Given the description of an element on the screen output the (x, y) to click on. 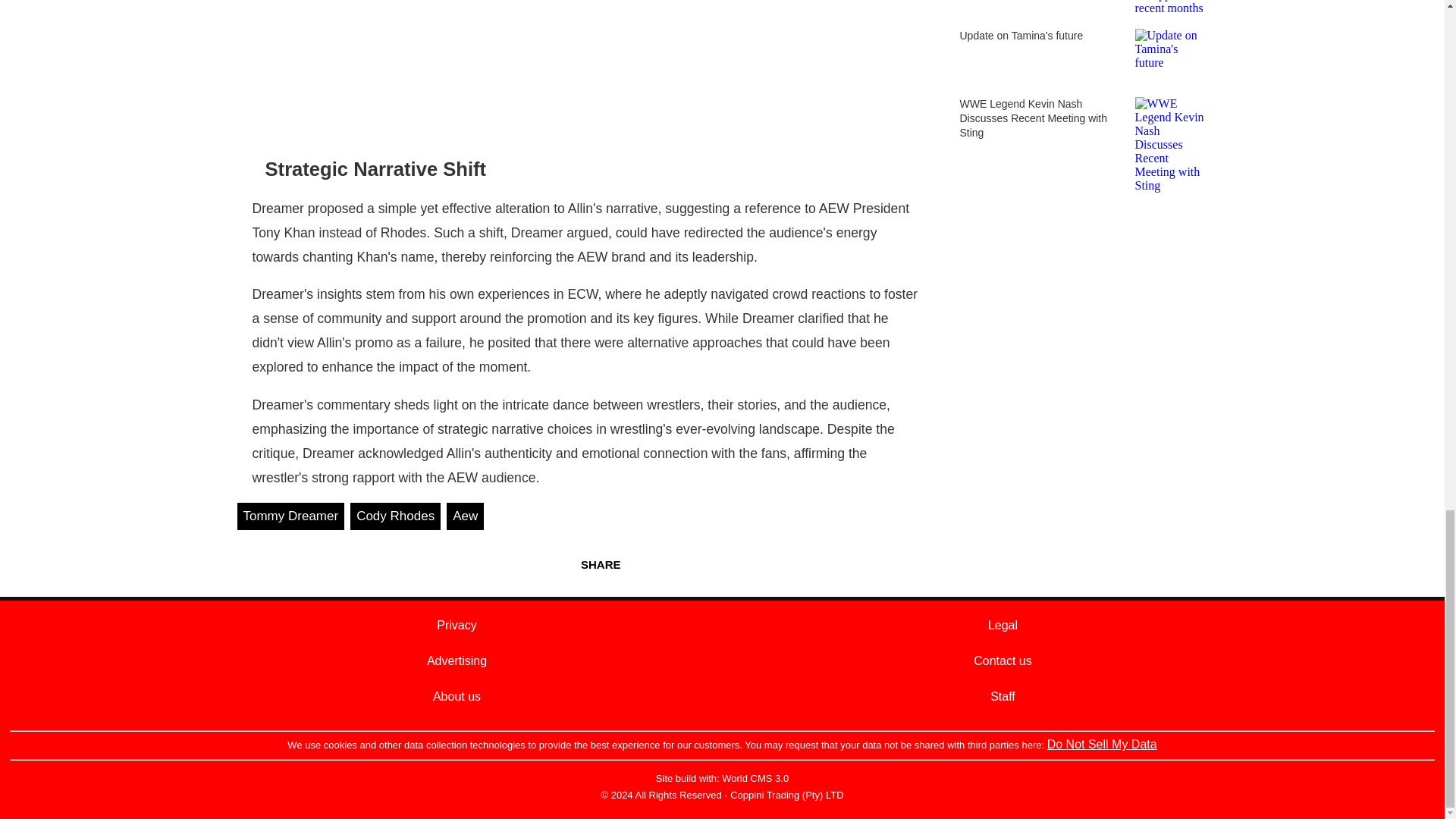
Cody Rhodes (395, 515)
Tommy Dreamer (289, 515)
Privacy (456, 625)
Legal (1002, 625)
Aew (464, 515)
